Given the description of an element on the screen output the (x, y) to click on. 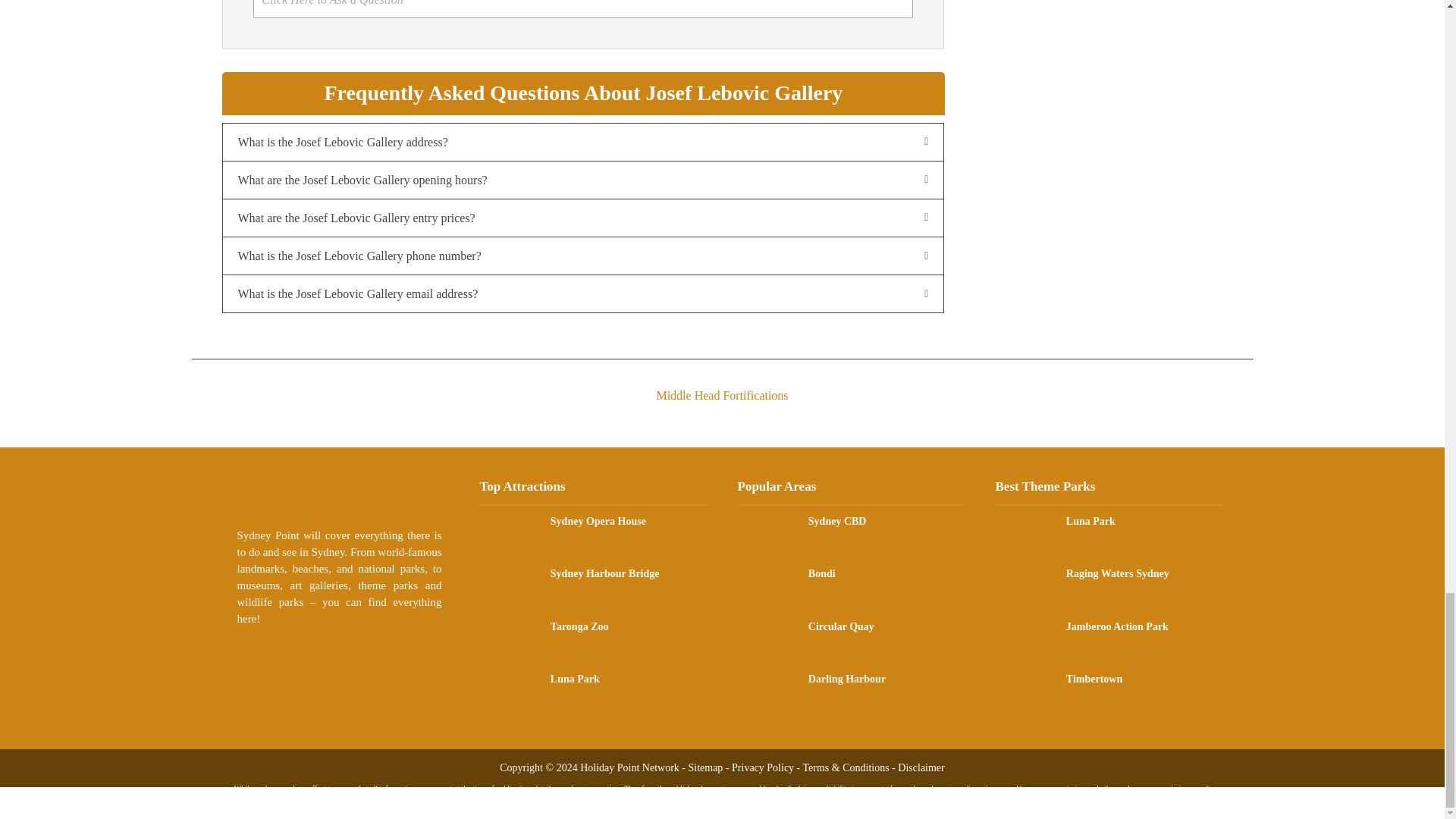
Middle Head Fortifications (721, 381)
